Given the description of an element on the screen output the (x, y) to click on. 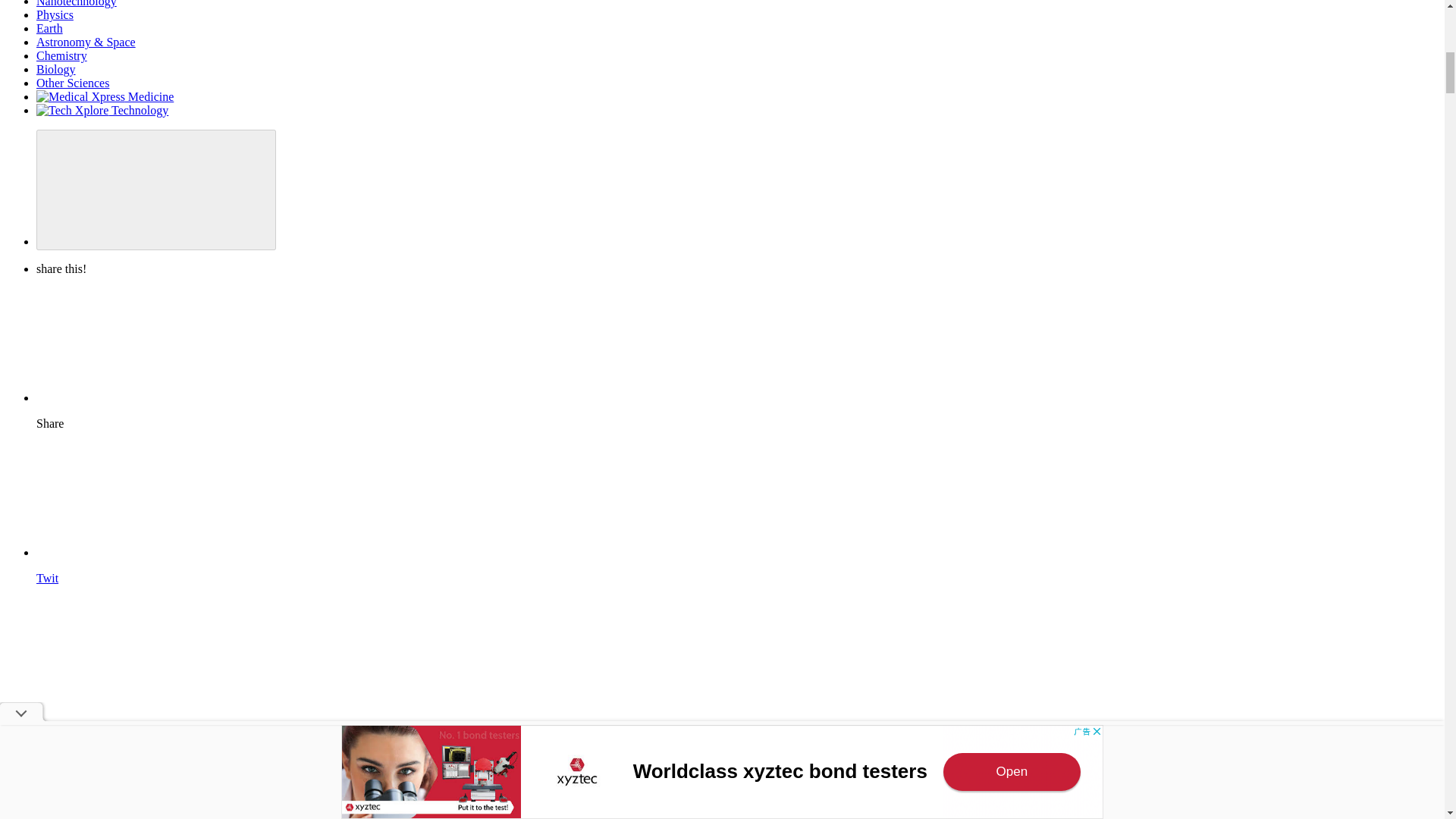
Physics (55, 14)
Technology (102, 110)
Biology (55, 69)
Other Sciences (72, 82)
Earth (49, 28)
Nanotechnology (76, 3)
Medicine (104, 96)
Chemistry (61, 55)
